Given the description of an element on the screen output the (x, y) to click on. 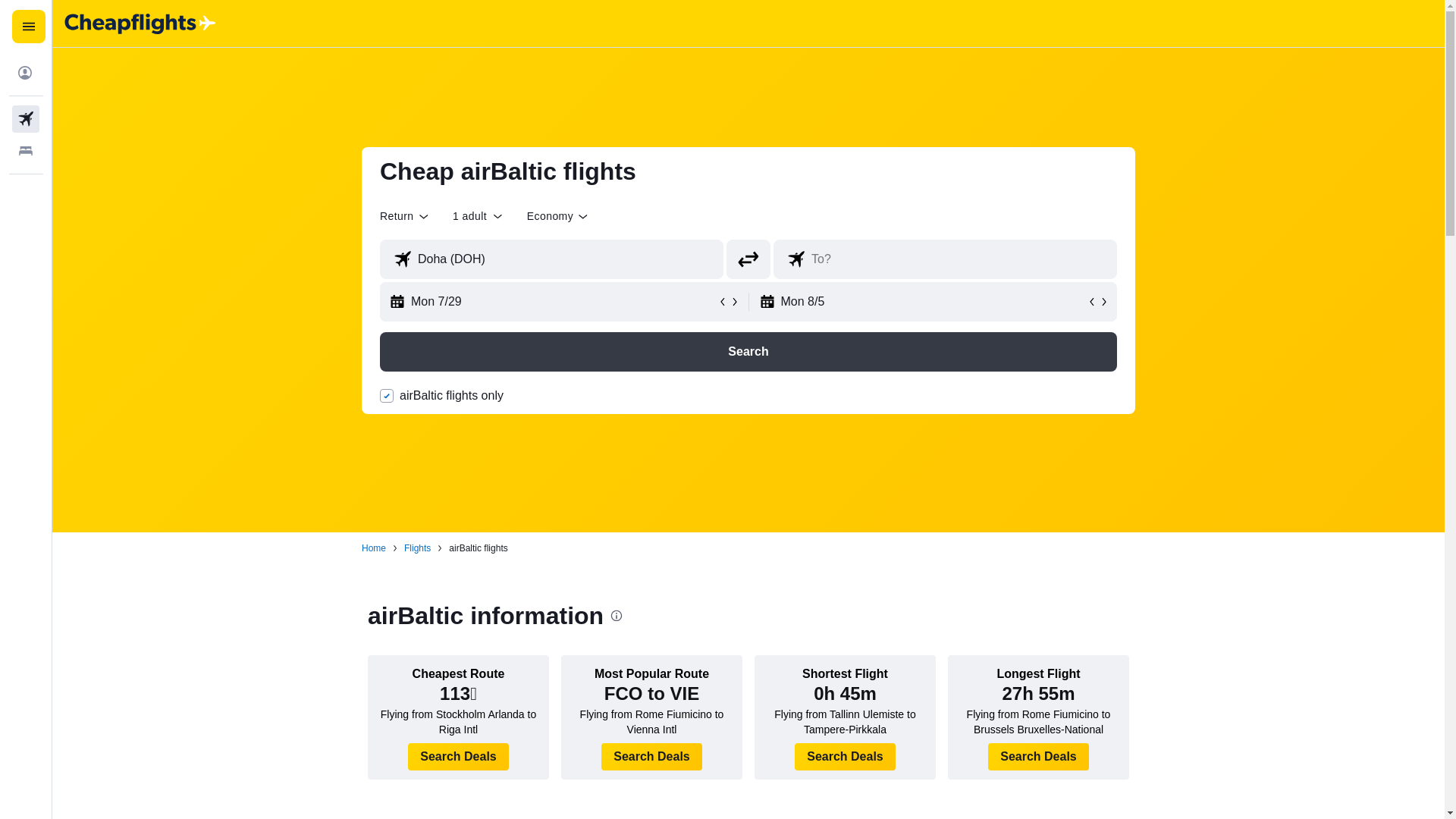
Search (748, 351)
Flights (417, 548)
Search (748, 351)
27h 55m (1037, 693)
FCO to VIE (651, 693)
0h 45m (844, 693)
Search Deals (1038, 756)
Search Deals (651, 756)
Home (373, 548)
Search Deals (457, 756)
Search Deals (844, 756)
